Given the description of an element on the screen output the (x, y) to click on. 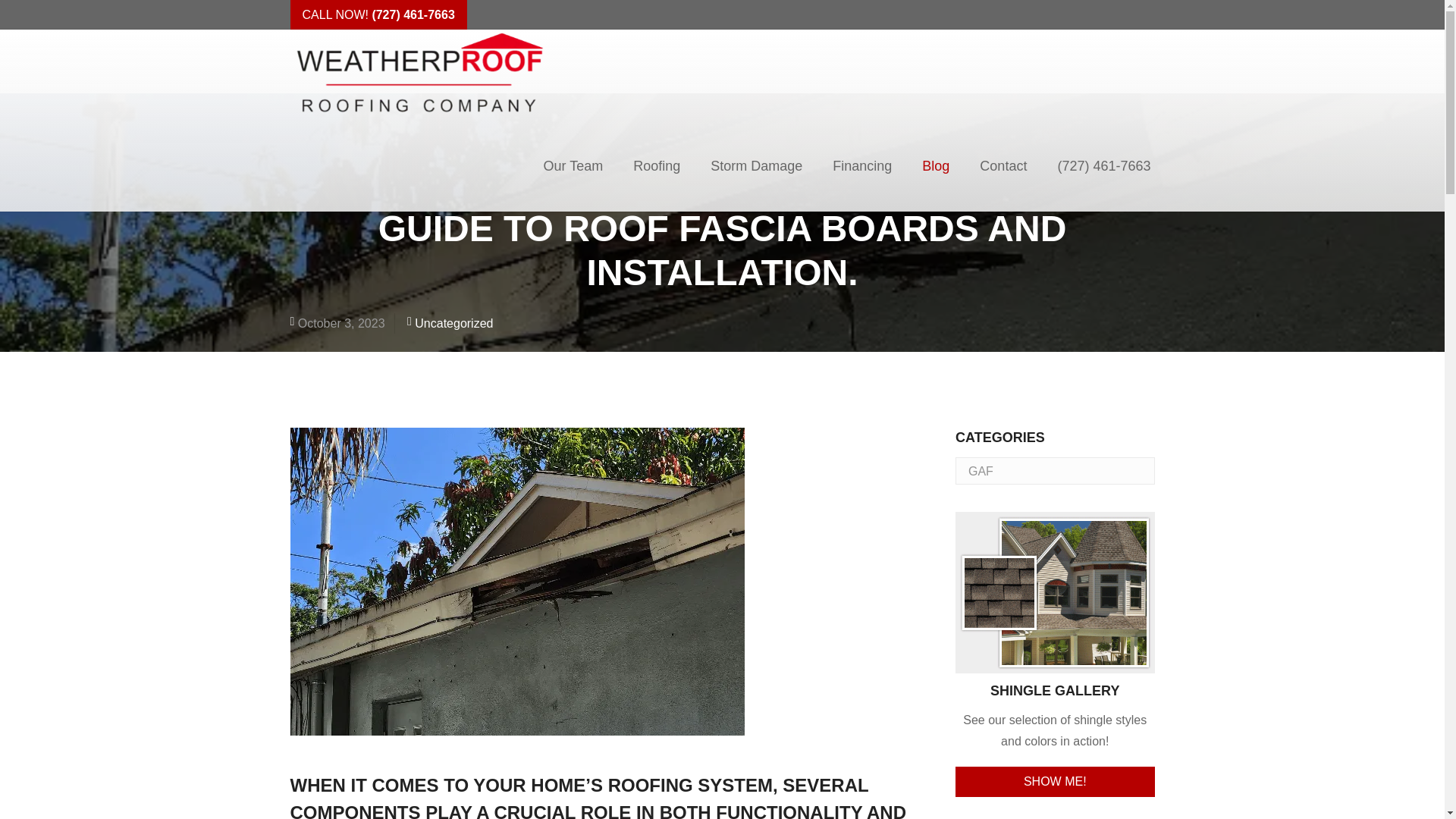
SHOW ME! (1054, 781)
Storm Damage (755, 165)
SHINGLE GALLERY (1054, 642)
Our Team (572, 165)
Financing (861, 165)
Uncategorized (453, 323)
